Given the description of an element on the screen output the (x, y) to click on. 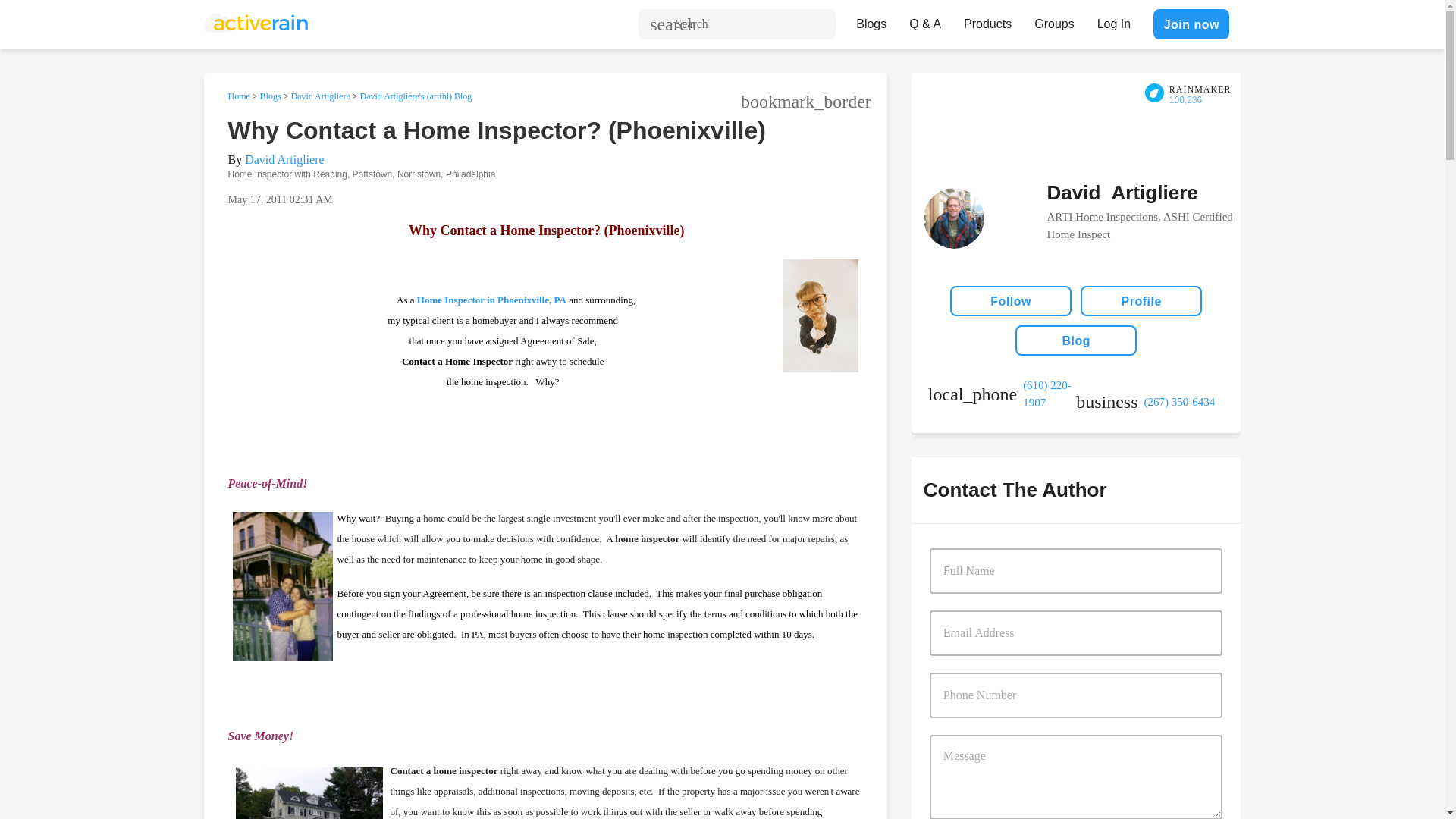
David Artigliere (283, 159)
Groups (1053, 19)
Phoenixville Home Inspector (491, 299)
Blogs (270, 95)
Blogs (870, 19)
Home (237, 95)
fax (1149, 402)
Products (986, 19)
Log In (1113, 19)
work (1001, 393)
